Given the description of an element on the screen output the (x, y) to click on. 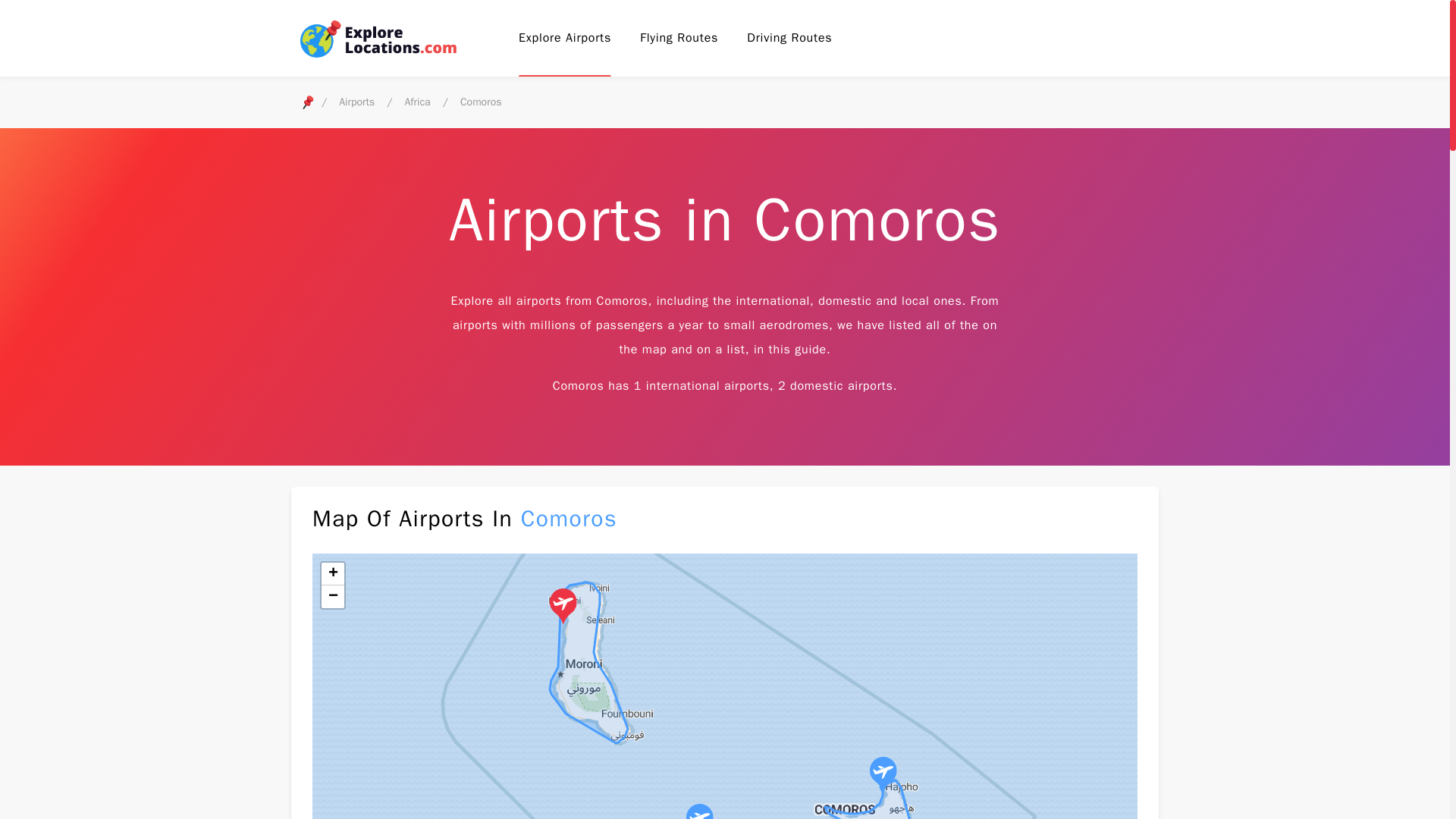
Comoros (481, 104)
Airports (356, 104)
Zoom out (332, 596)
Explore Airports (564, 37)
Flying Routes (678, 37)
Driving Routes (788, 37)
Africa (417, 104)
Zoom in (332, 573)
